Given the description of an element on the screen output the (x, y) to click on. 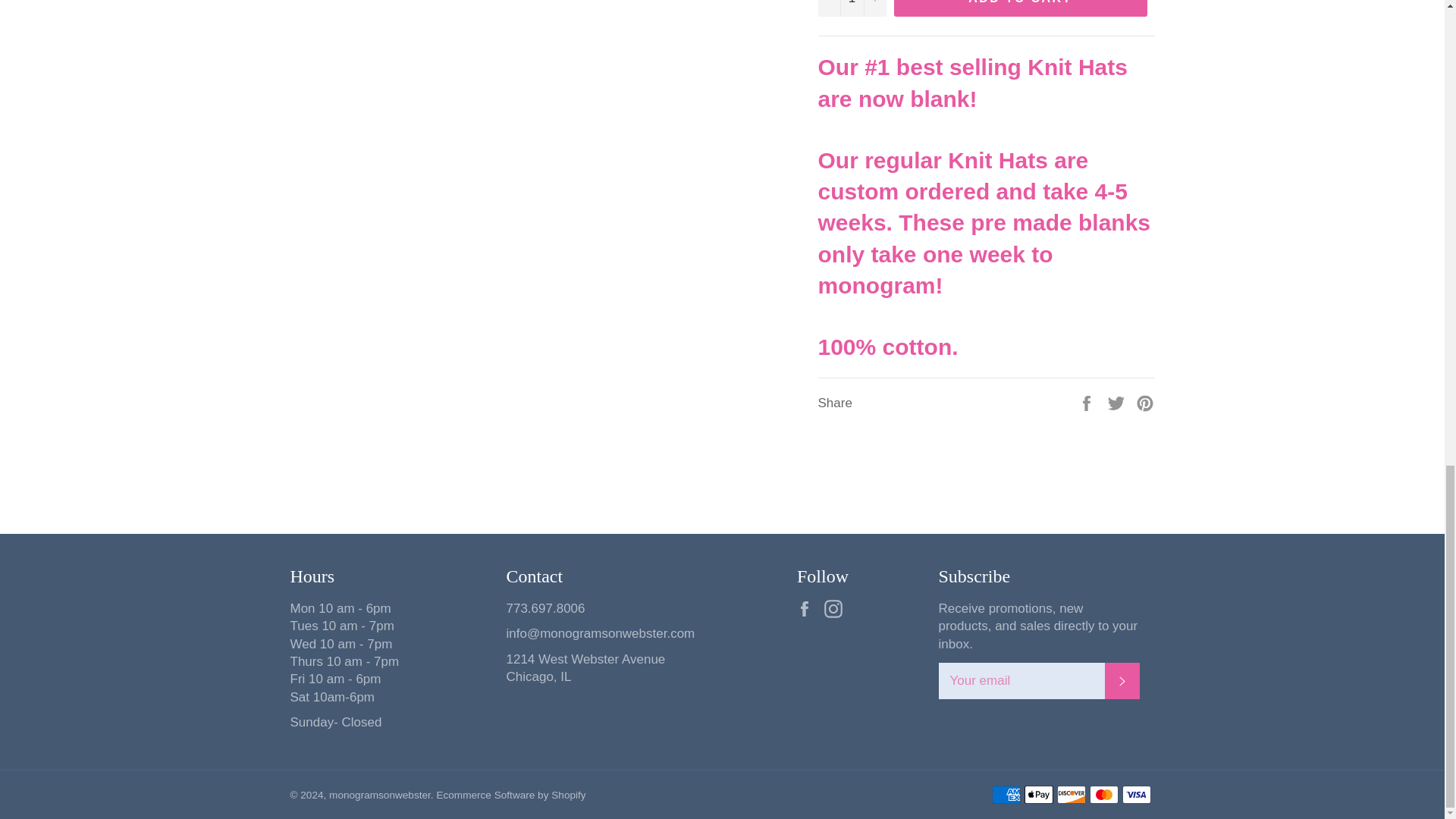
monogramsonwebster on Instagram (837, 609)
monogramsonwebster on Facebook (807, 609)
Tweet on Twitter (1117, 401)
Share on Facebook (1088, 401)
1 (850, 8)
Pin on Pinterest (1144, 401)
